Given the description of an element on the screen output the (x, y) to click on. 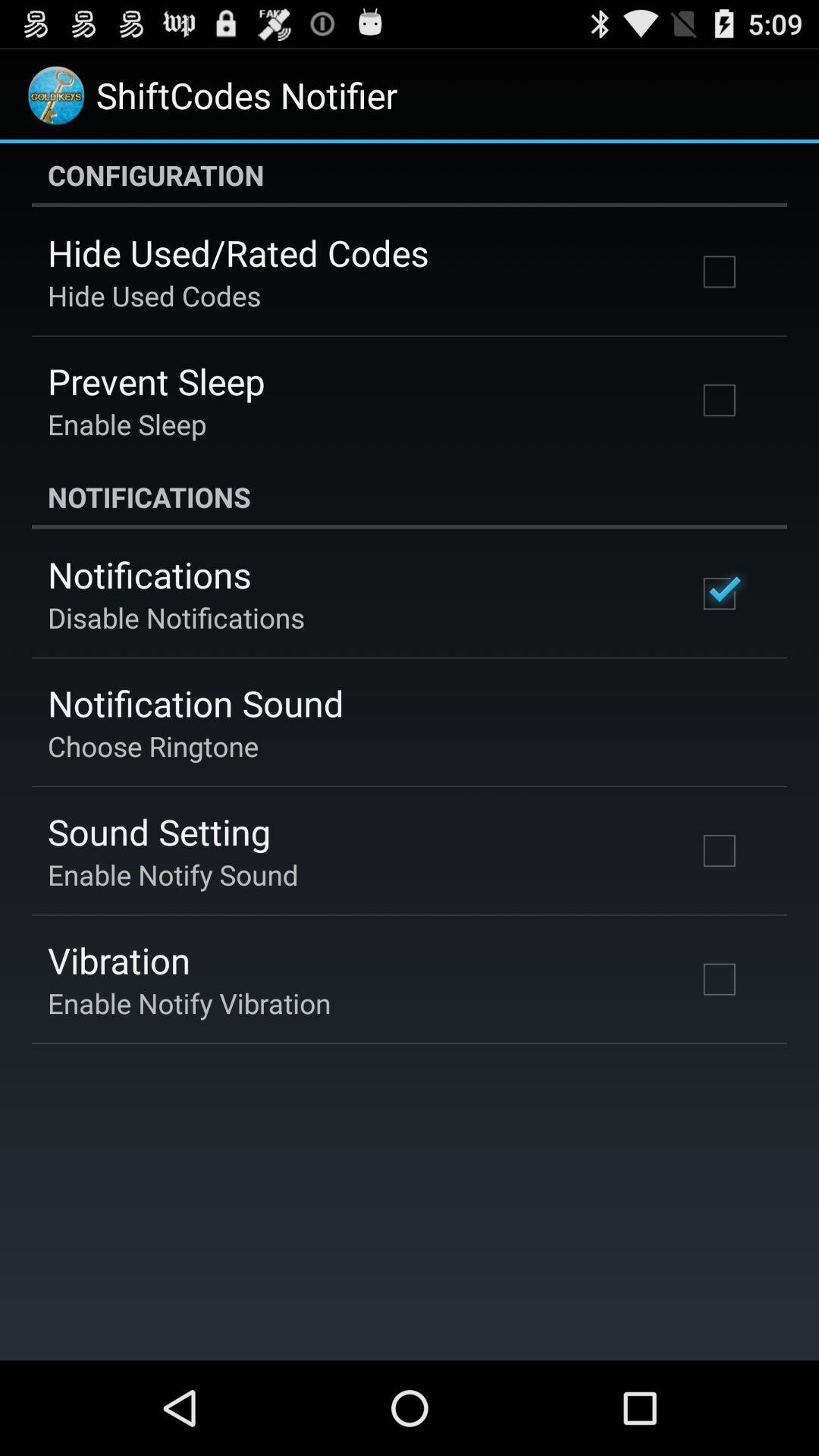
choose item above sound setting app (152, 745)
